Given the description of an element on the screen output the (x, y) to click on. 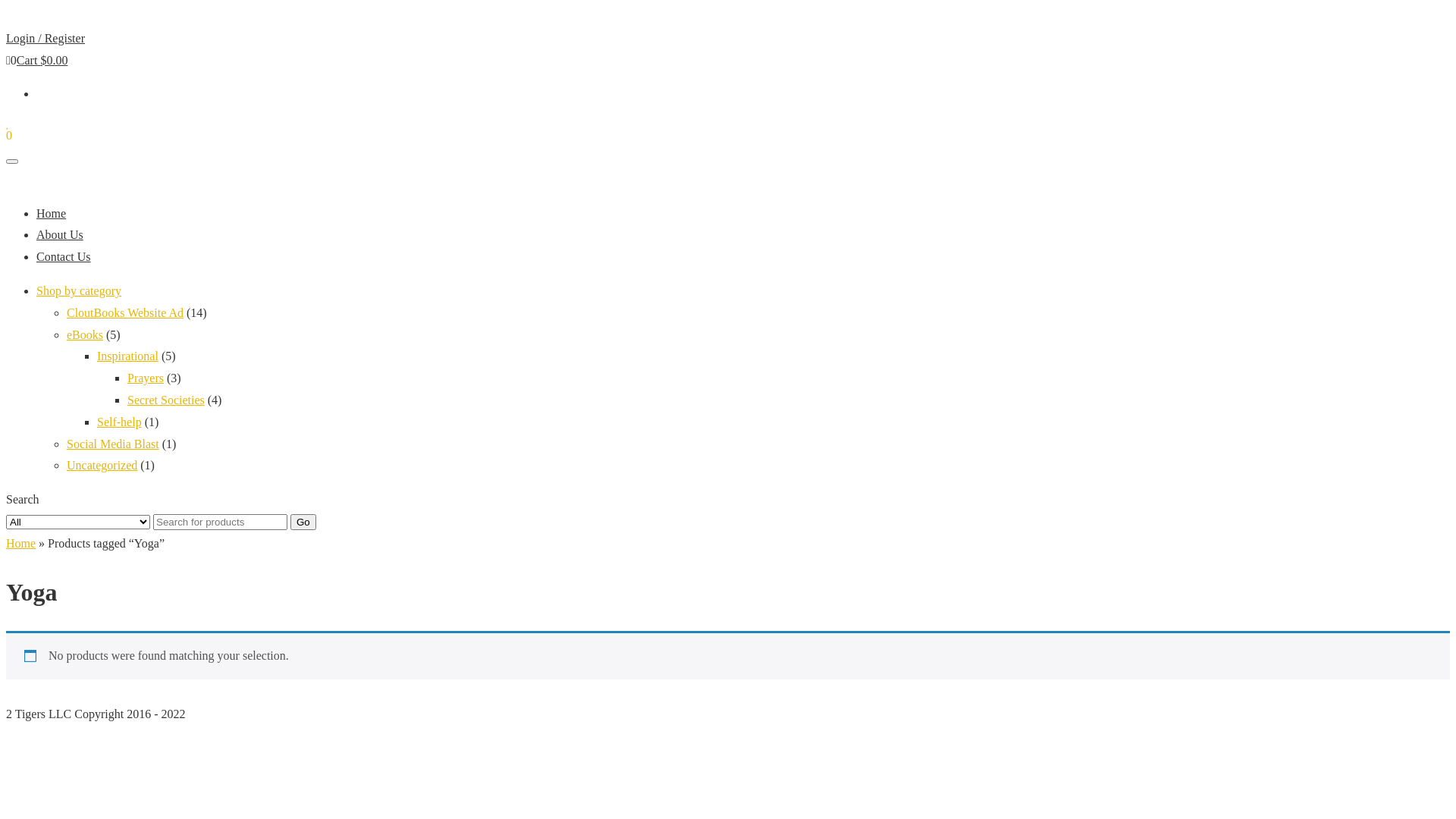
Toggle navigation Element type: text (12, 161)
Home Element type: text (50, 213)
Social Media Blast Element type: text (112, 443)
Shop by category Element type: text (78, 290)
CloutBooks Website Ad Element type: text (124, 312)
Inspirational Element type: text (127, 355)
0Cart $0.00 Element type: text (36, 59)
Contact Us Element type: text (63, 256)
Go Element type: text (303, 522)
Self-help Element type: text (119, 421)
Uncategorized Element type: text (101, 464)
eBooks Element type: text (84, 334)
Prayers Element type: text (145, 377)
Login / Register Element type: text (45, 37)
Secret Societies Element type: text (165, 399)
Home Element type: text (20, 542)
0 Element type: text (9, 134)
About Us Element type: text (59, 234)
